Given the description of an element on the screen output the (x, y) to click on. 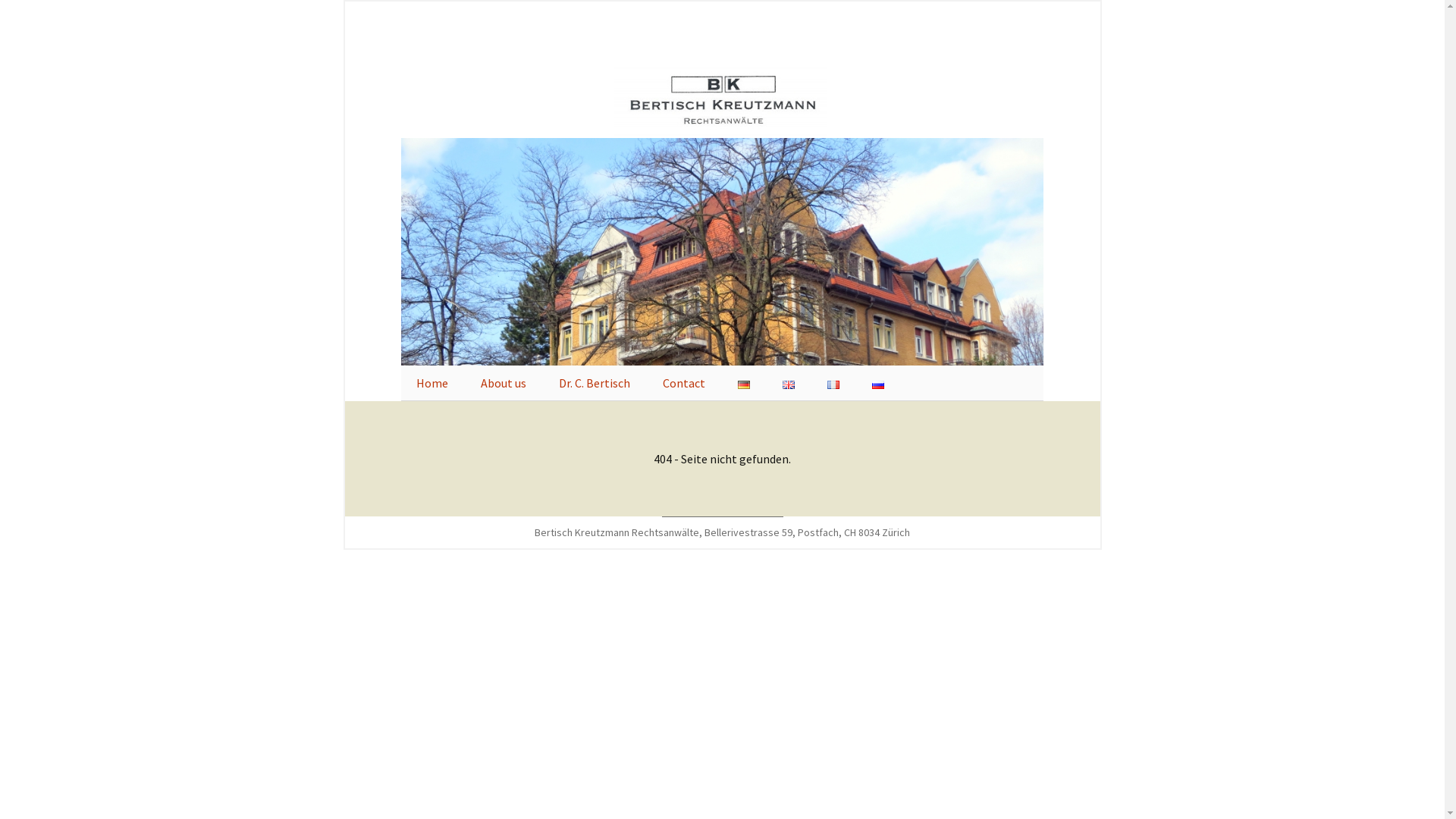
Contact Element type: text (683, 382)
About us Element type: text (503, 382)
Home Element type: text (432, 382)
English Element type: hover (788, 384)
Deutsch Element type: hover (743, 384)
Dr. C. Bertisch Element type: text (594, 382)
